Given the description of an element on the screen output the (x, y) to click on. 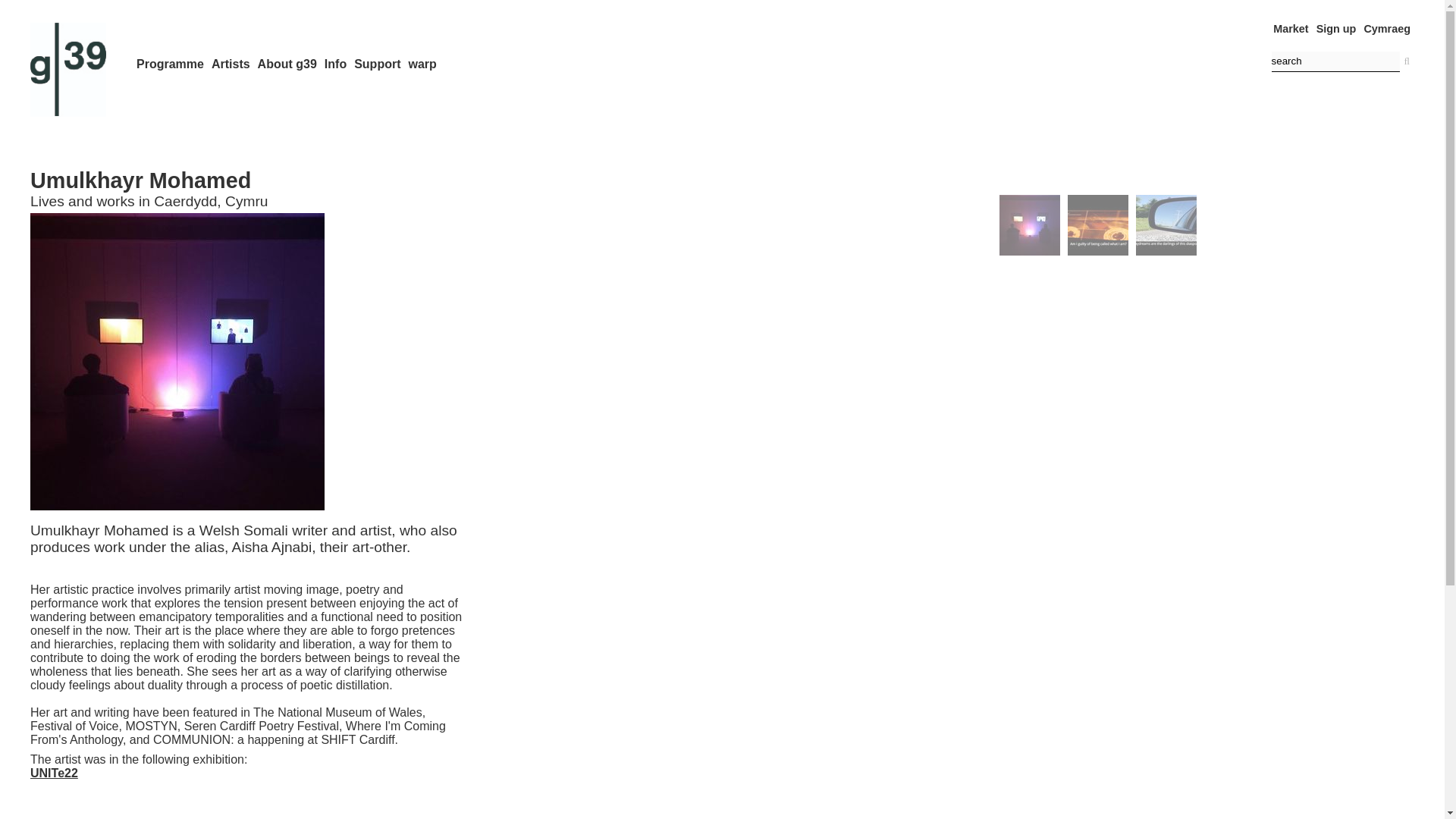
search (1335, 61)
warp (421, 63)
Support (376, 63)
Sign up (1336, 28)
Programme (169, 63)
UNITe22 (54, 772)
Info (335, 63)
go (1406, 60)
Market (1289, 28)
Artists (230, 63)
Cymraeg (1386, 28)
About g39 (287, 63)
